Given the description of an element on the screen output the (x, y) to click on. 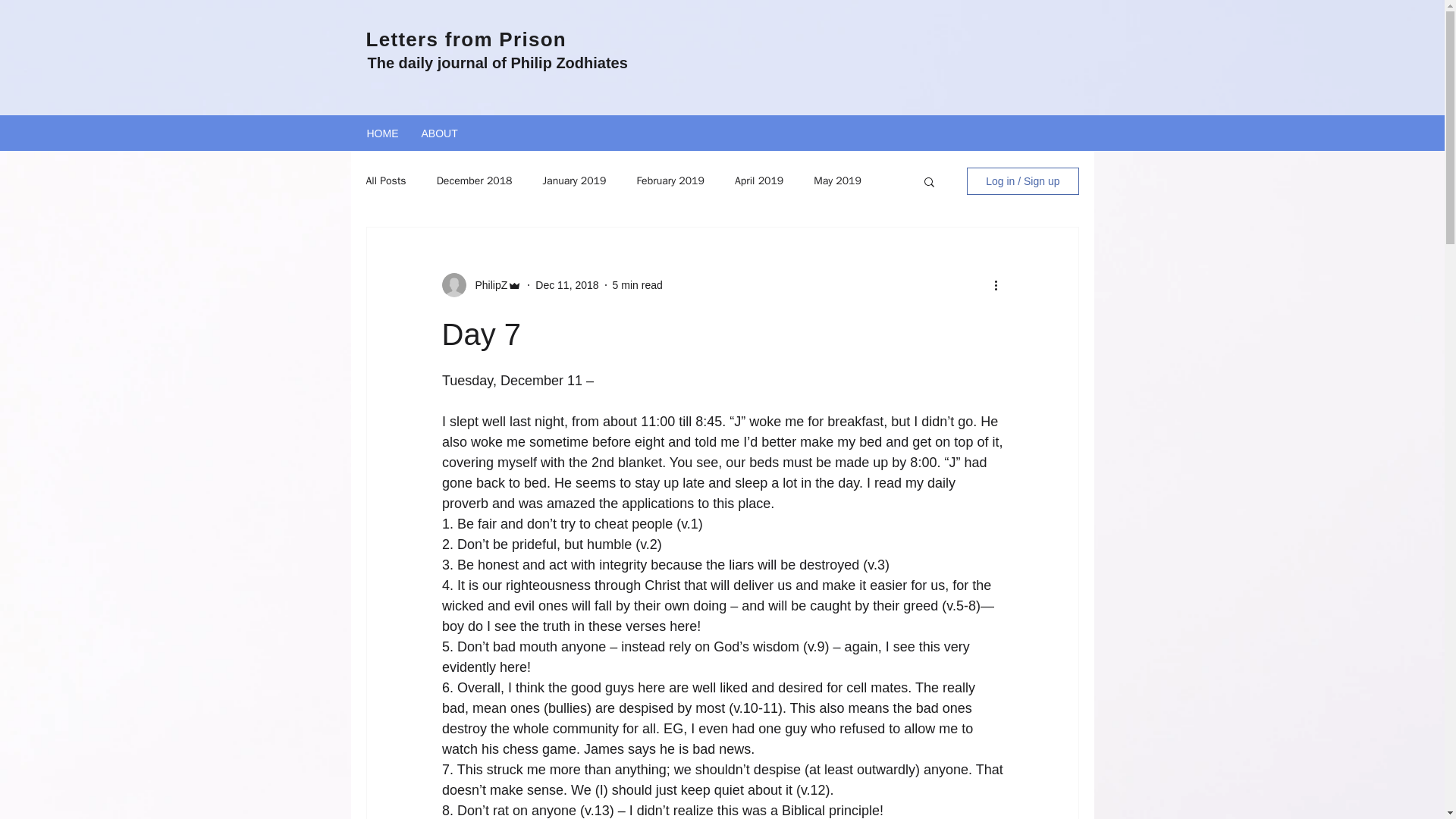
January 2019 (575, 181)
December 2018 (474, 181)
All Posts (385, 181)
April 2019 (759, 181)
Dec 11, 2018 (566, 285)
May 2019 (837, 181)
HOME (382, 132)
The daily journal of Philip Zodhiates (496, 62)
Letters from Prison (465, 38)
5 min read (637, 285)
February 2019 (670, 181)
PhilipZ (485, 285)
ABOUT (438, 132)
